Given the description of an element on the screen output the (x, y) to click on. 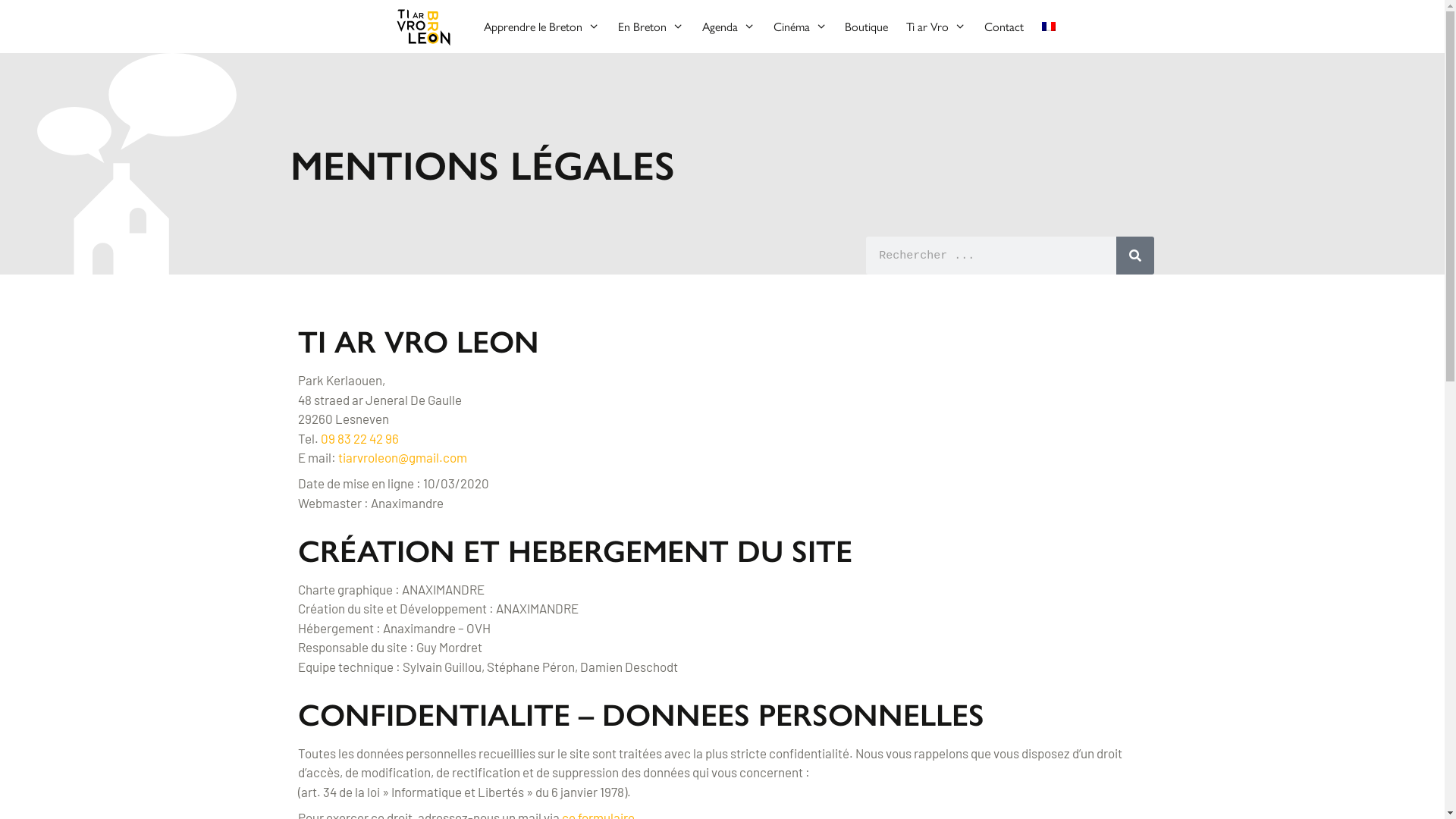
Ti ar Vro Element type: text (936, 26)
Tiarvro Element type: hover (427, 26)
Agenda Element type: text (728, 26)
Boutique Element type: text (866, 26)
Contact Element type: text (1003, 26)
09 83 22 42 96 Element type: text (359, 437)
En Breton Element type: text (650, 26)
Apprendre le Breton Element type: text (541, 26)
Tiarvro Element type: hover (423, 26)
tiarvroleon@gmail.com Element type: text (402, 456)
